Given the description of an element on the screen output the (x, y) to click on. 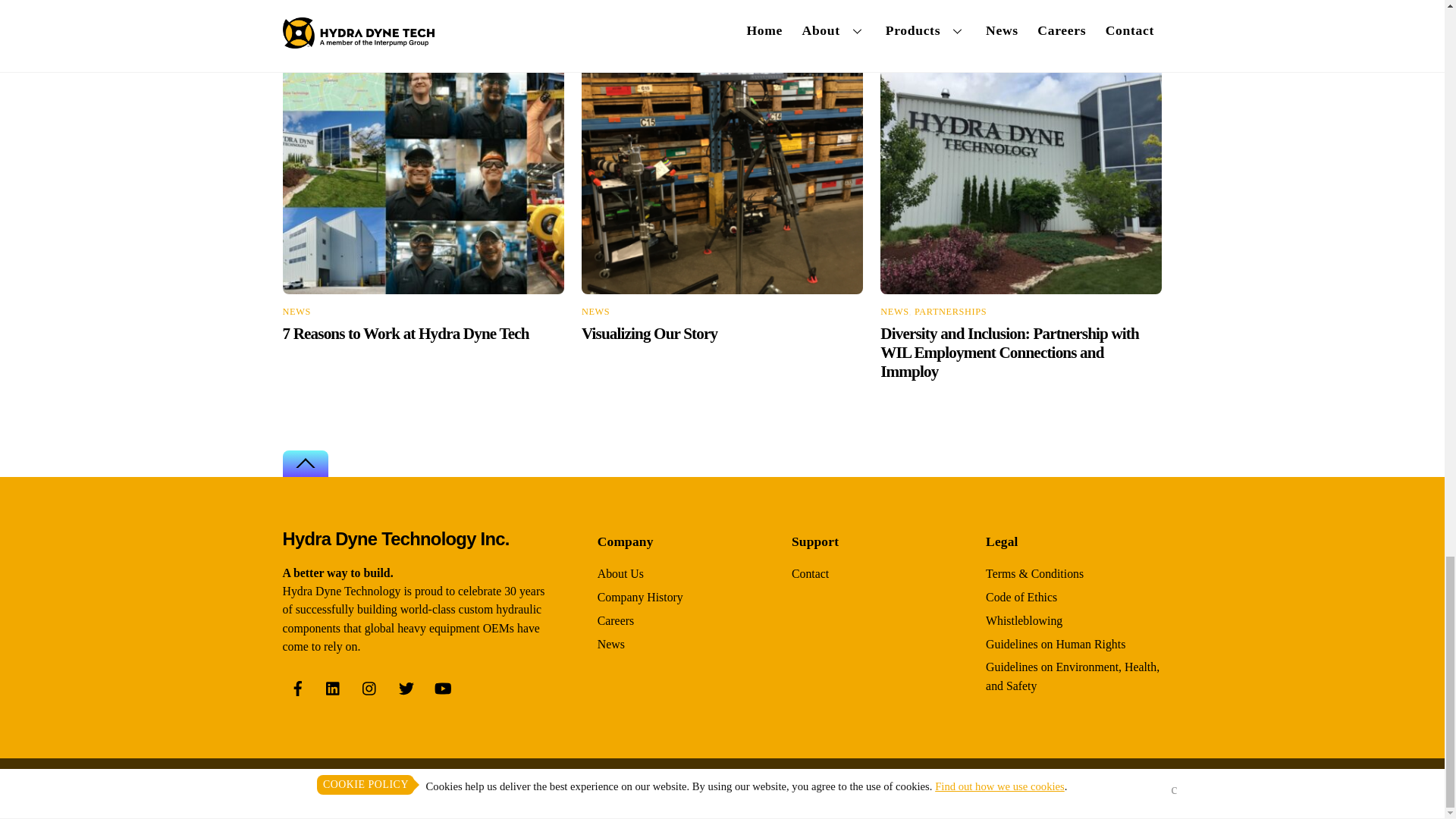
Video tour (721, 176)
NEWS (894, 311)
Visualizing Our Story (648, 333)
7 Reasons to Work at Hydra Dyne Tech (405, 333)
NEWS (595, 311)
Collage why work at HDT (422, 176)
NEWS (296, 311)
Hydra Dyne Technology Inc. (395, 538)
